Given the description of an element on the screen output the (x, y) to click on. 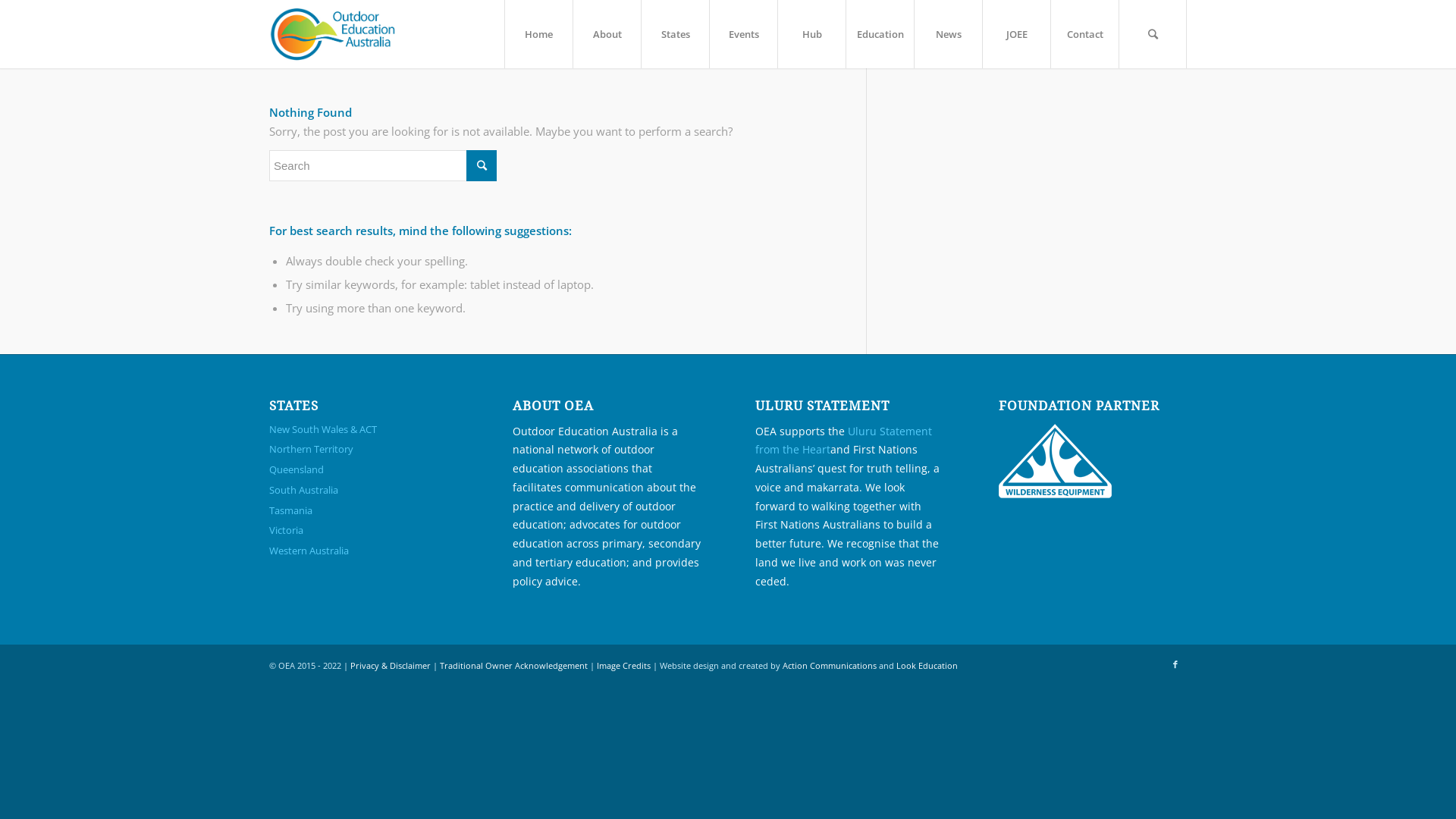
Western Australia Element type: text (363, 550)
New South Wales & ACT Element type: text (363, 429)
South Australia Element type: text (363, 490)
Traditional Owner Acknowledgement Element type: text (513, 665)
States Element type: text (674, 34)
Education Element type: text (879, 34)
Northern Territory Element type: text (363, 449)
Contact Element type: text (1084, 34)
Tasmania Element type: text (363, 510)
Home Element type: text (538, 34)
Image Credits Element type: text (623, 665)
Hub Element type: text (811, 34)
Events Element type: text (743, 34)
Uluru Statement from the Heart Element type: text (843, 440)
Privacy & Disclaimer Element type: text (390, 665)
JOEE Element type: text (1016, 34)
Facebook Element type: hover (1175, 663)
About Element type: text (606, 34)
News Element type: text (947, 34)
Look Education Element type: text (926, 665)
Victoria Element type: text (363, 530)
Queensland Element type: text (363, 469)
Action Communications Element type: text (829, 665)
